Given the description of an element on the screen output the (x, y) to click on. 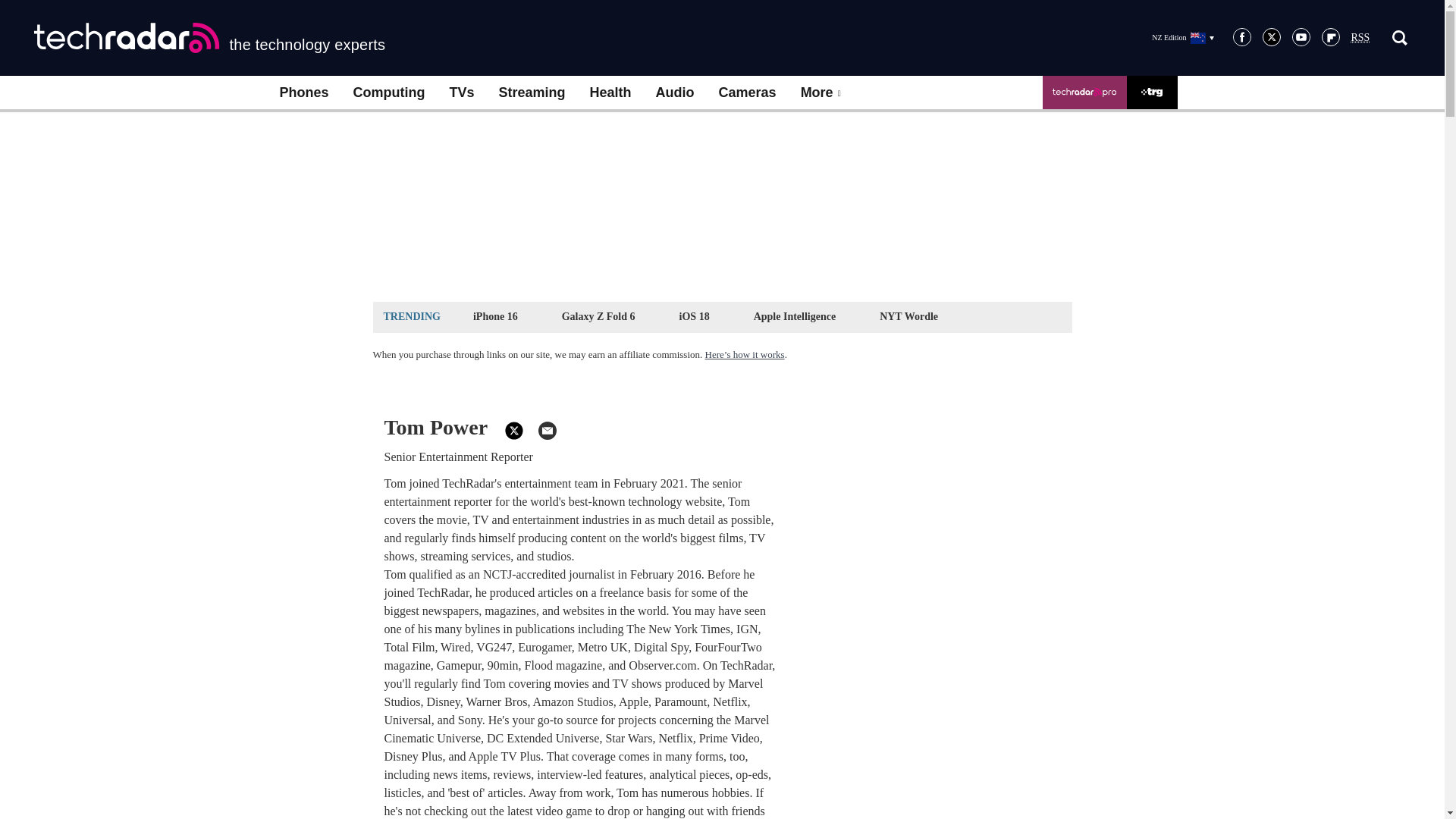
NZ Edition (1182, 37)
Really Simple Syndication (1360, 37)
Health (610, 92)
Audio (674, 92)
Cameras (747, 92)
Computing (389, 92)
Phones (303, 92)
the technology experts (209, 38)
Streaming (532, 92)
TVs (461, 92)
